Given the description of an element on the screen output the (x, y) to click on. 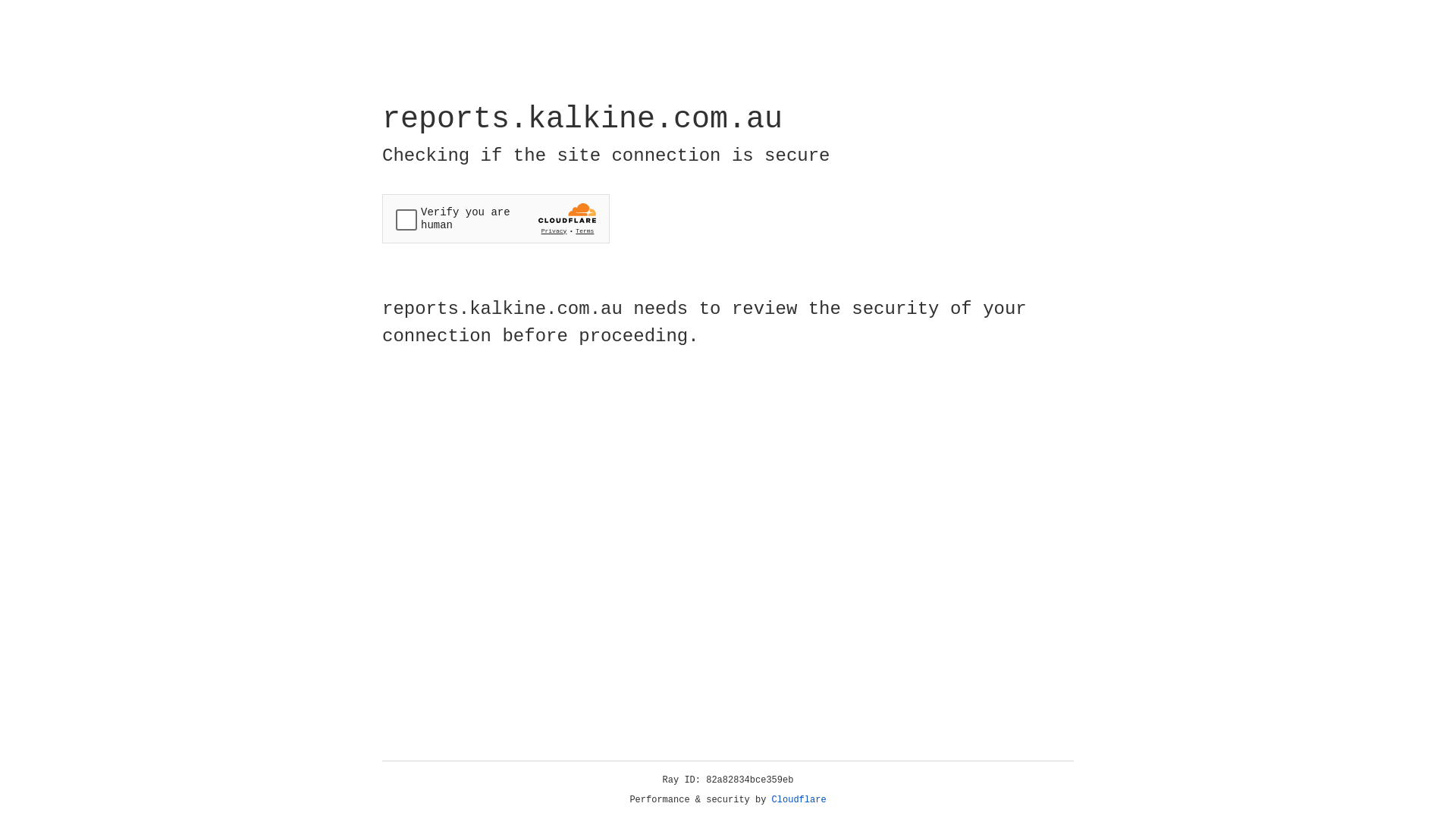
Cloudflare Element type: text (798, 799)
Widget containing a Cloudflare security challenge Element type: hover (495, 218)
